Given the description of an element on the screen output the (x, y) to click on. 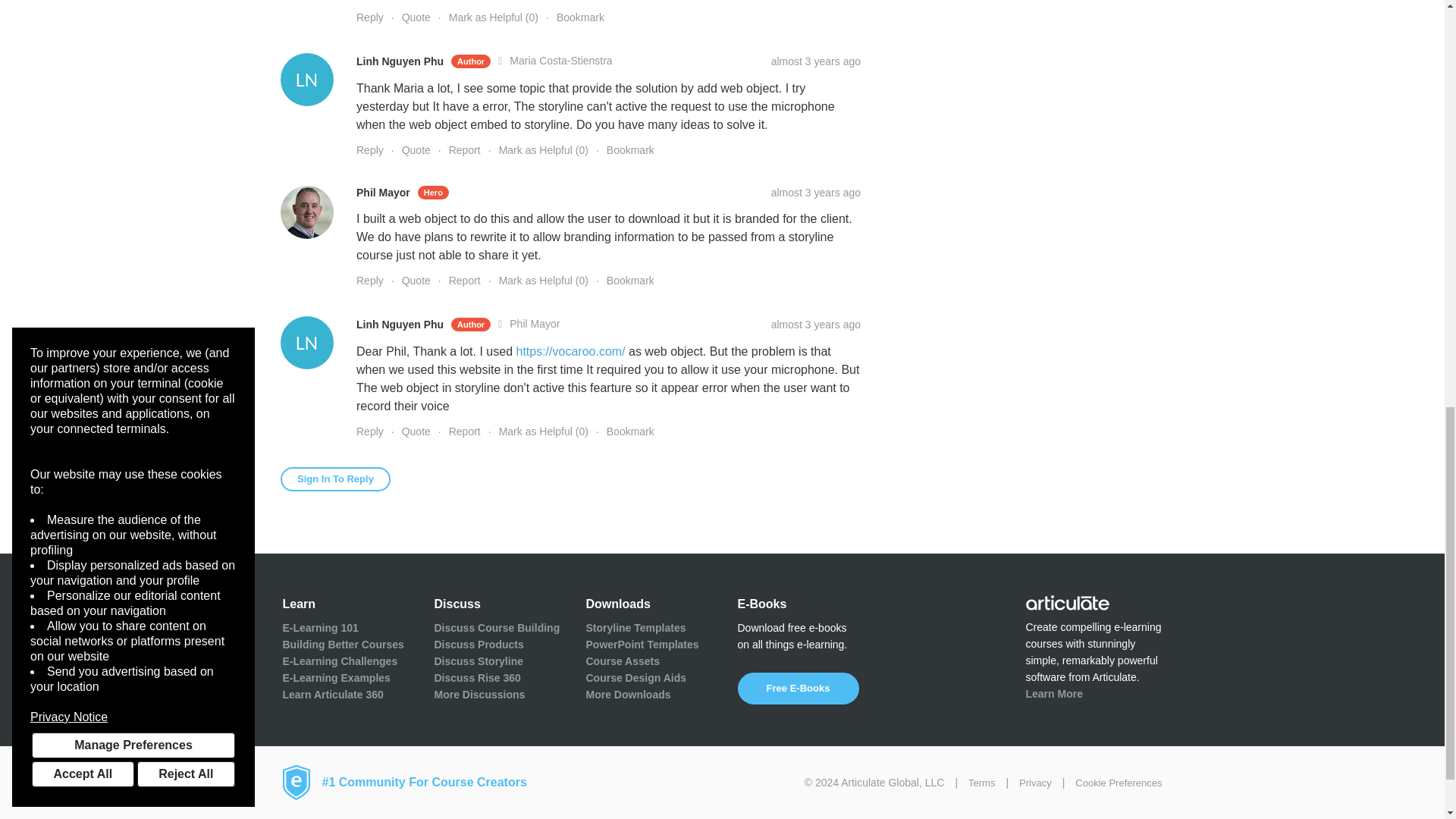
Copy URL to Clipboard (815, 61)
Copy URL to Clipboard (815, 192)
Phil Mayor (307, 212)
Linh Nguyen Phu (307, 79)
Linh Nguyen Phu (307, 342)
Copy URL to Clipboard (815, 324)
